Given the description of an element on the screen output the (x, y) to click on. 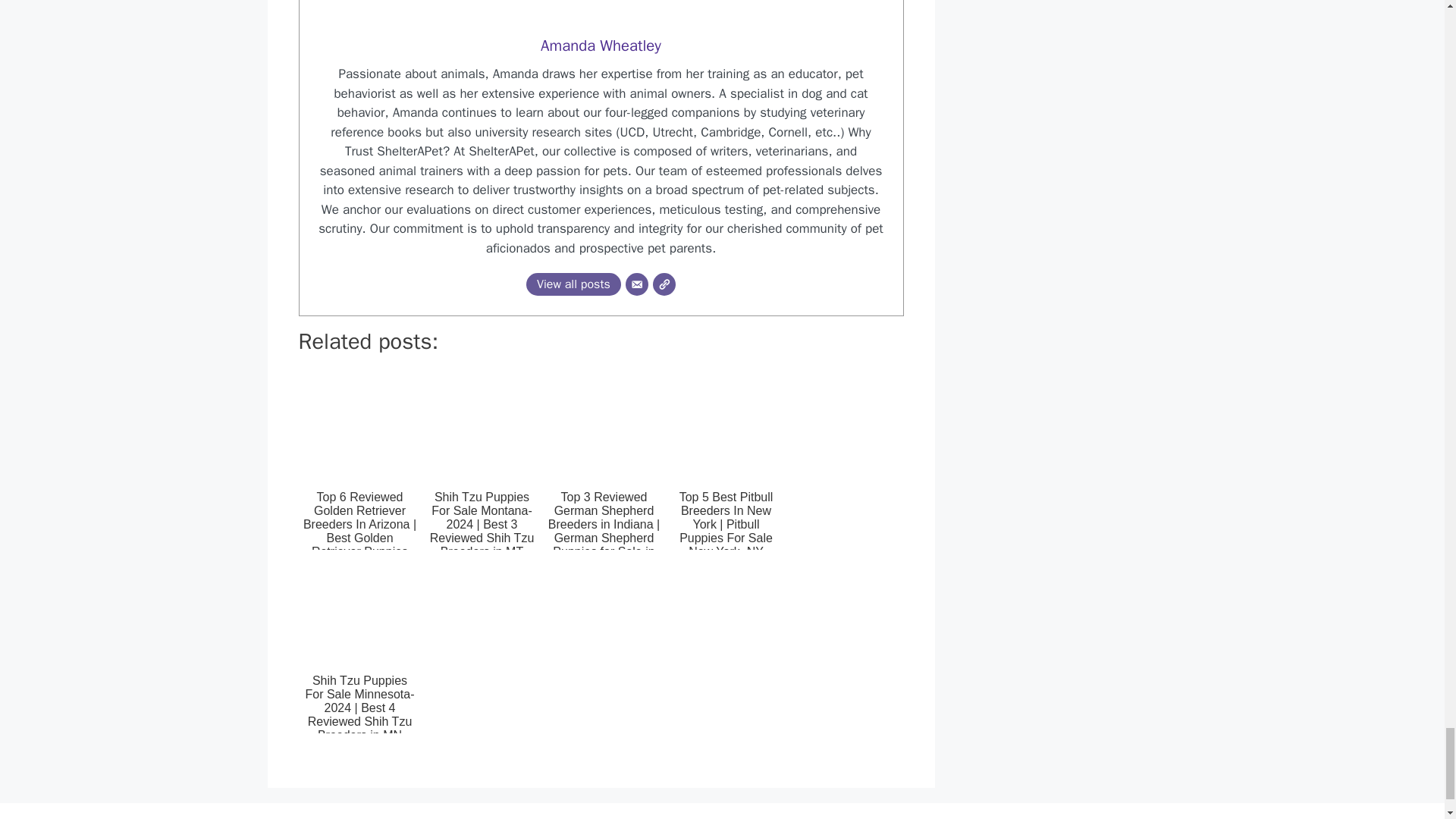
Amanda Wheatley (600, 44)
View all posts (573, 283)
View all posts (573, 283)
Amanda Wheatley (600, 44)
